Given the description of an element on the screen output the (x, y) to click on. 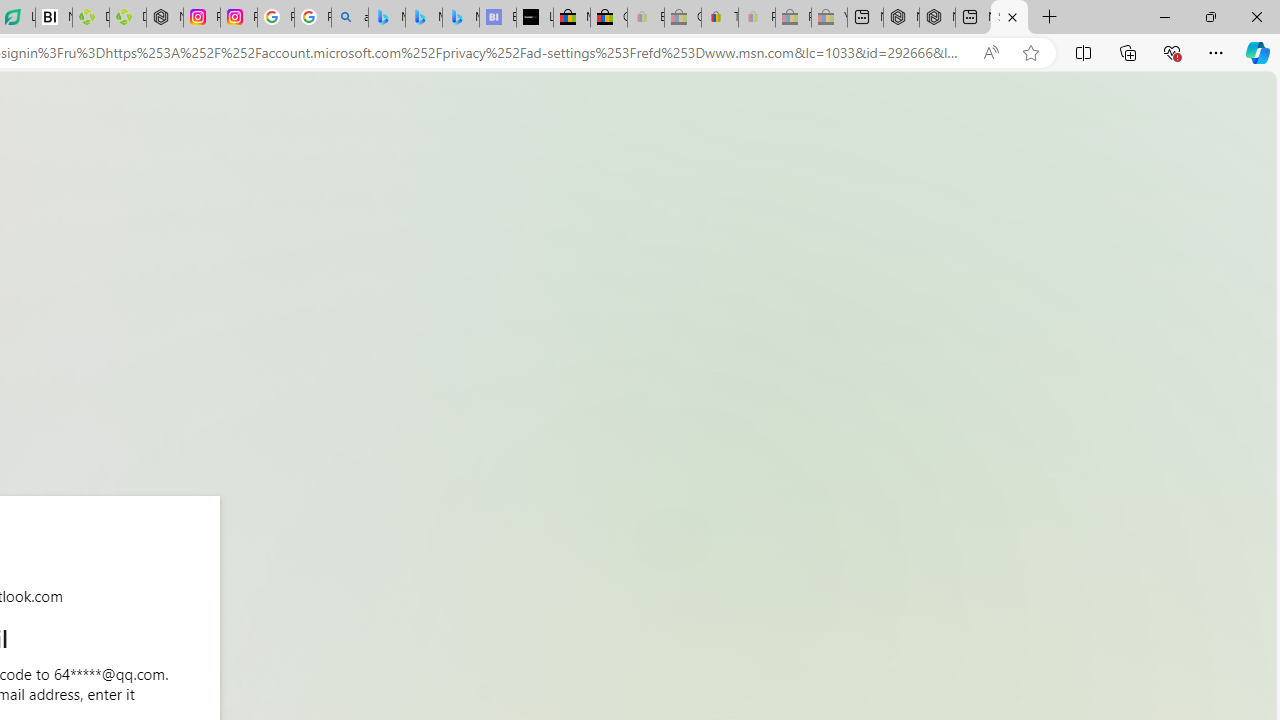
Press Room - eBay Inc. - Sleeping (793, 17)
Threats and offensive language policy | eBay (719, 17)
Microsoft Bing Travel - Shangri-La Hotel Bangkok (460, 17)
